Given the description of an element on the screen output the (x, y) to click on. 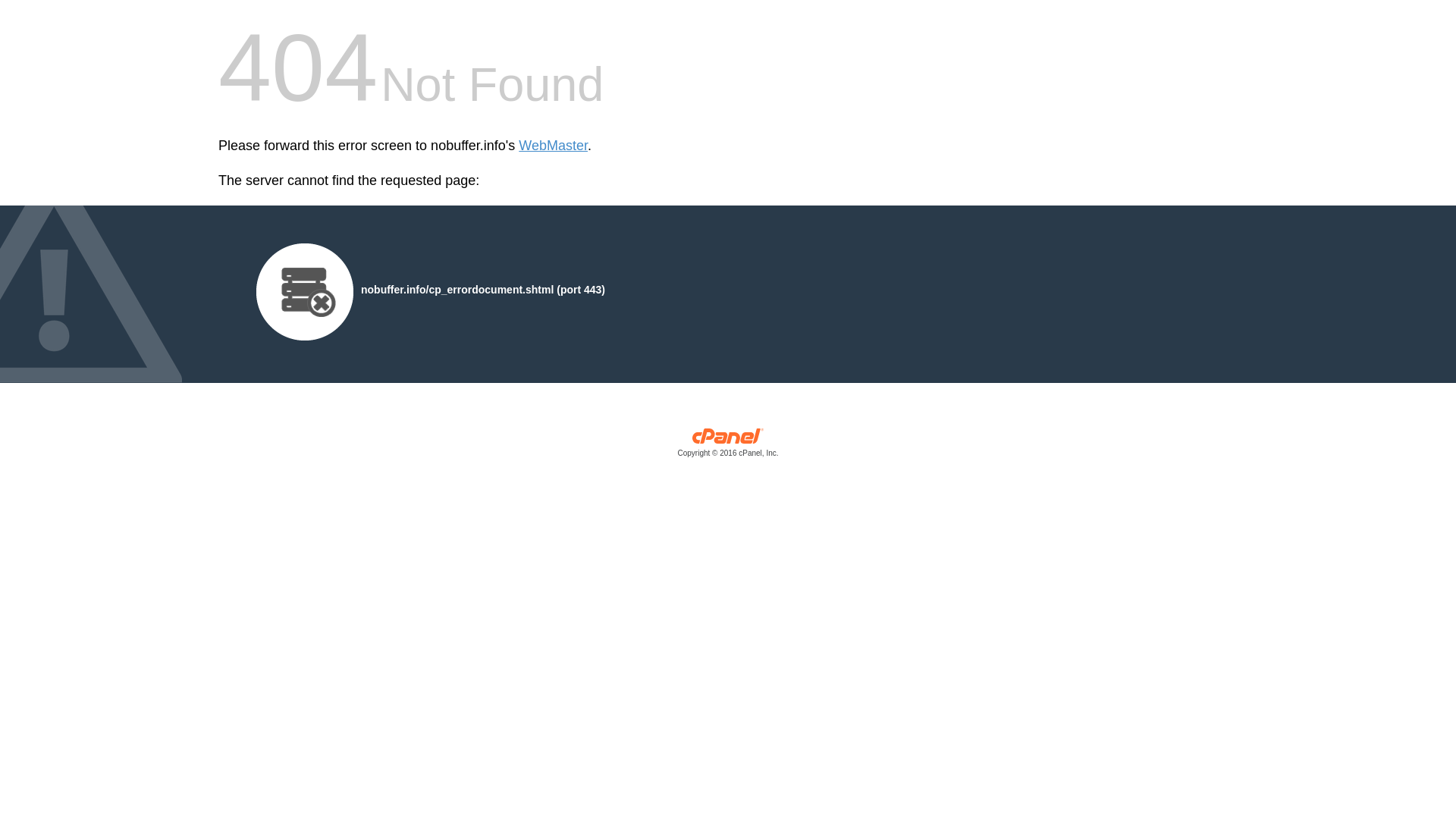
WebMaster (553, 145)
cPanel, Inc. (727, 446)
